Given the description of an element on the screen output the (x, y) to click on. 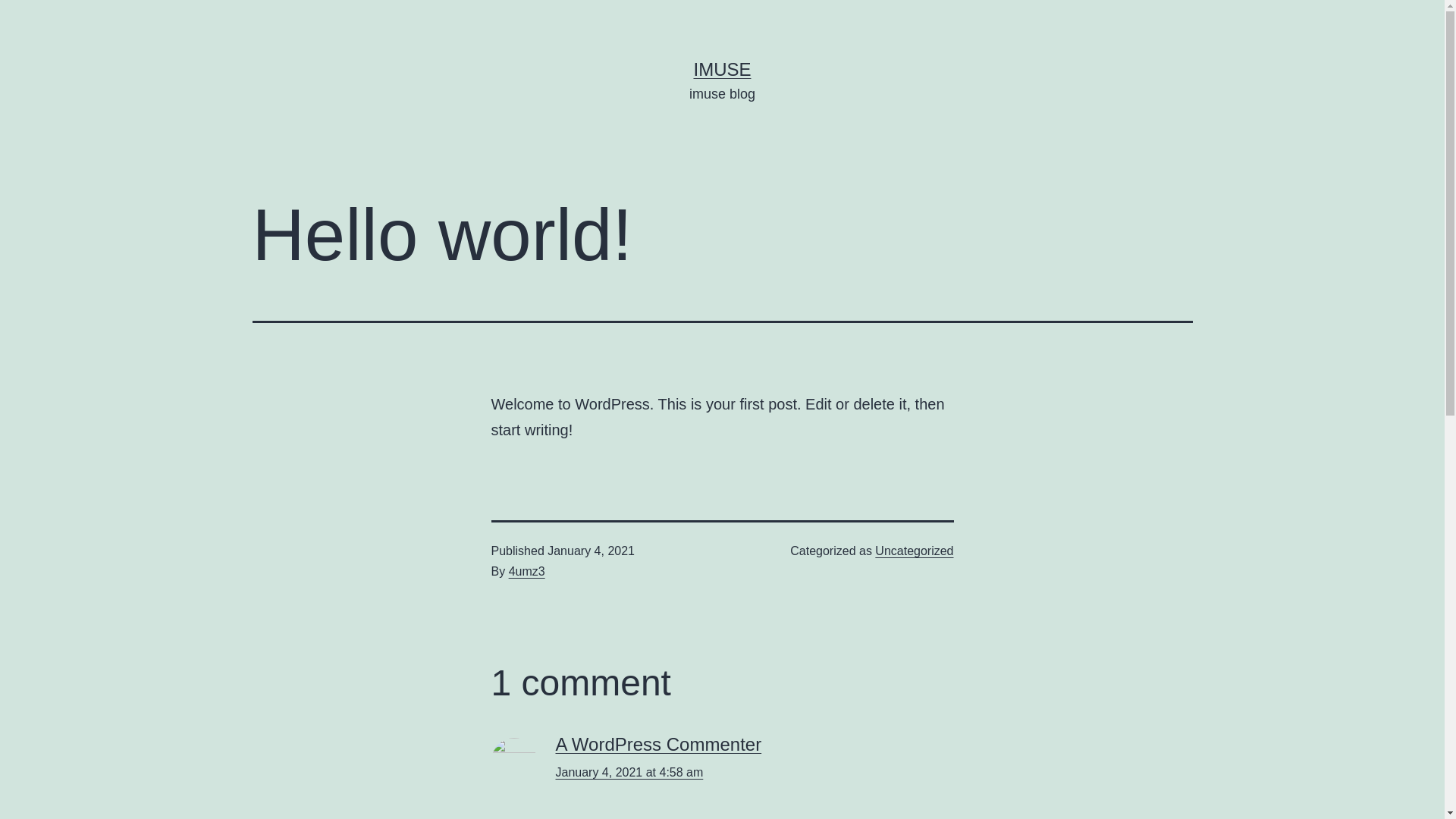
Uncategorized Element type: text (914, 550)
January 4, 2021 at 4:58 am Element type: text (628, 771)
4umz3 Element type: text (526, 570)
IMUSE Element type: text (721, 69)
A WordPress Commenter Element type: text (658, 744)
